Given the description of an element on the screen output the (x, y) to click on. 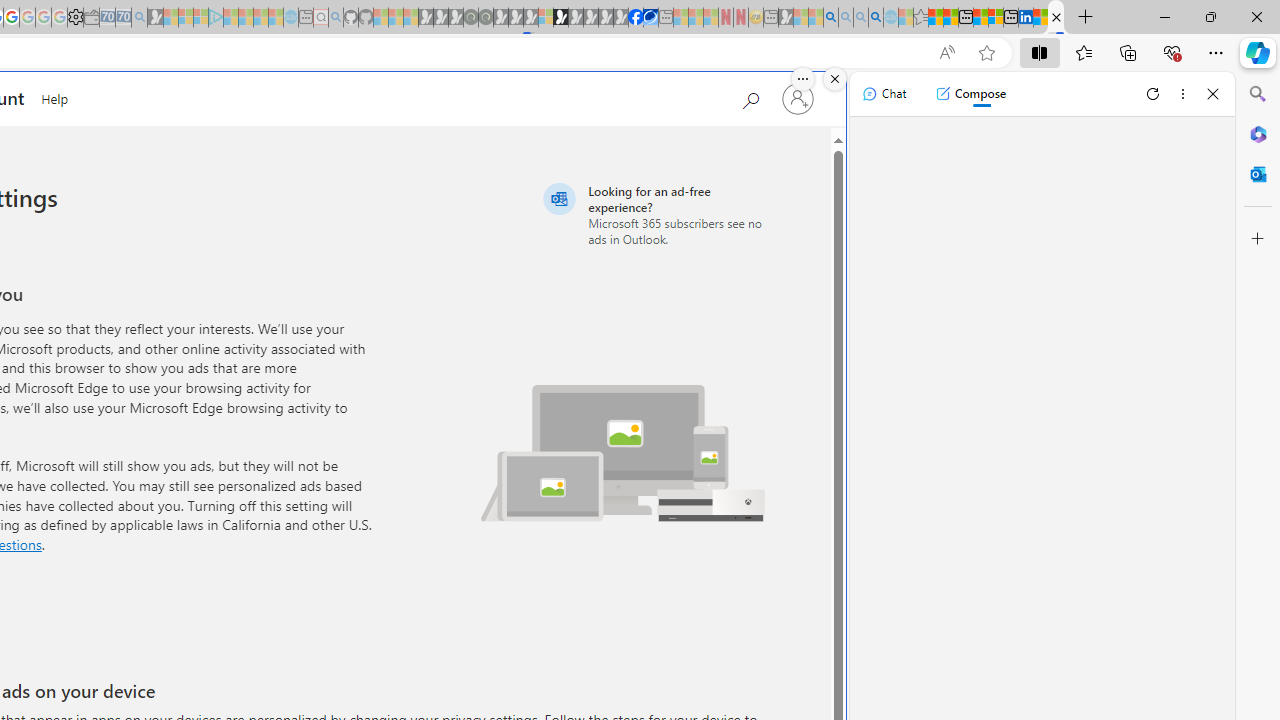
AQI & Health | AirNow.gov (650, 17)
Nordace | Facebook (635, 17)
Future Focus Report 2024 - Sleeping (485, 17)
Bing AI - Search (831, 17)
MSN - Sleeping (786, 17)
Sign in to your account - Sleeping (545, 17)
